Given the description of an element on the screen output the (x, y) to click on. 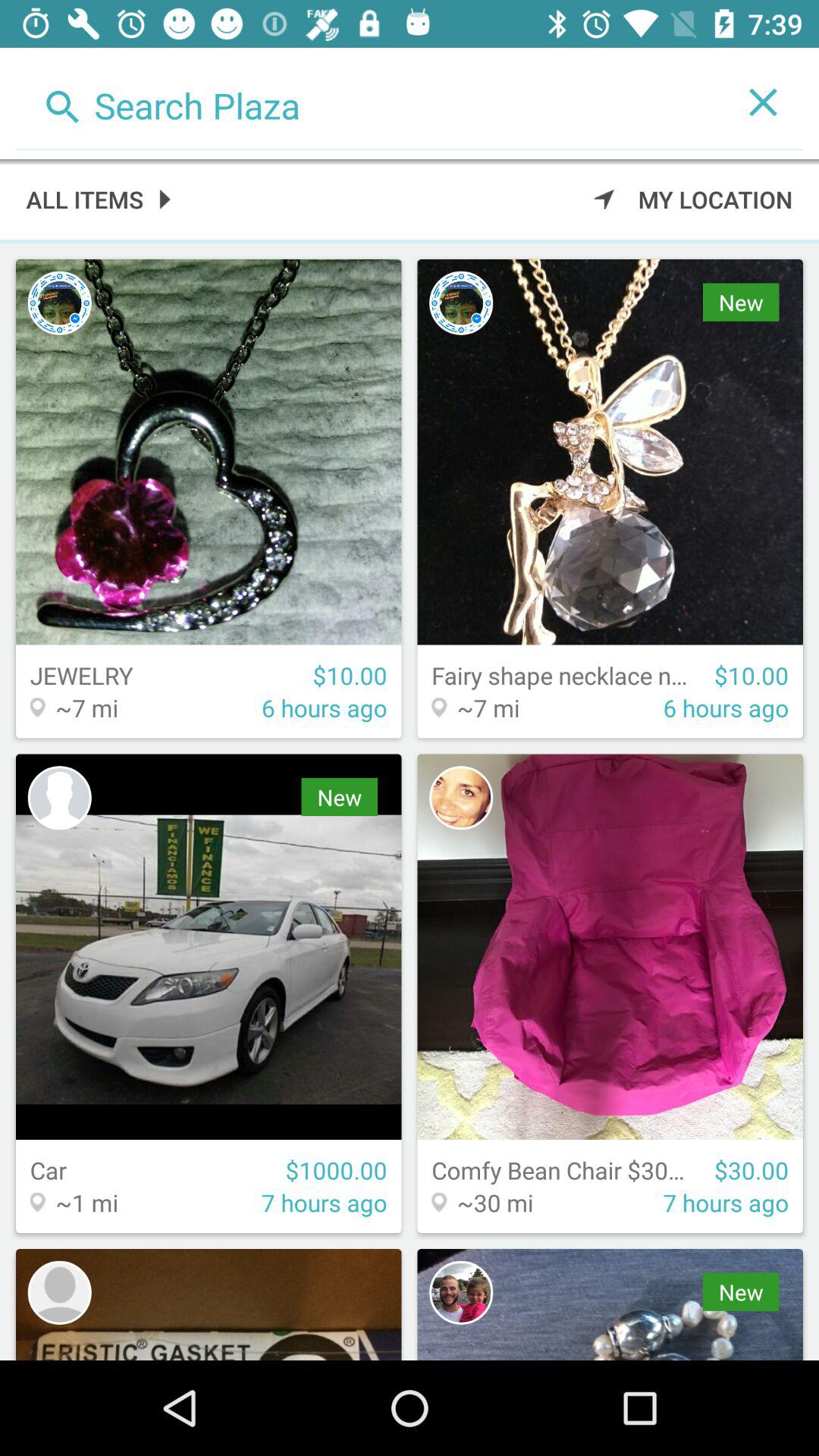
view seller profile (461, 797)
